Given the description of an element on the screen output the (x, y) to click on. 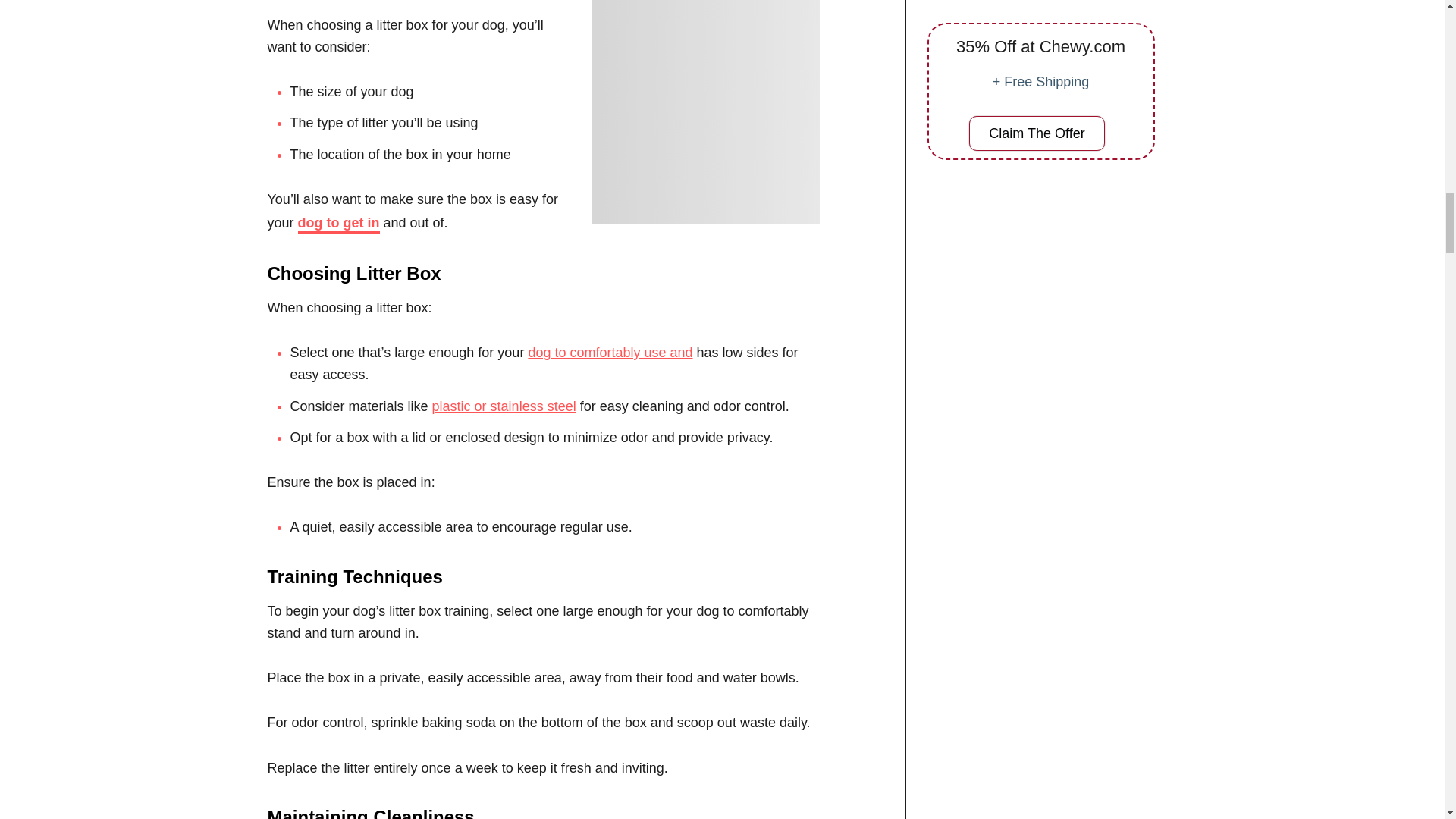
dog to get in (339, 224)
